Given the description of an element on the screen output the (x, y) to click on. 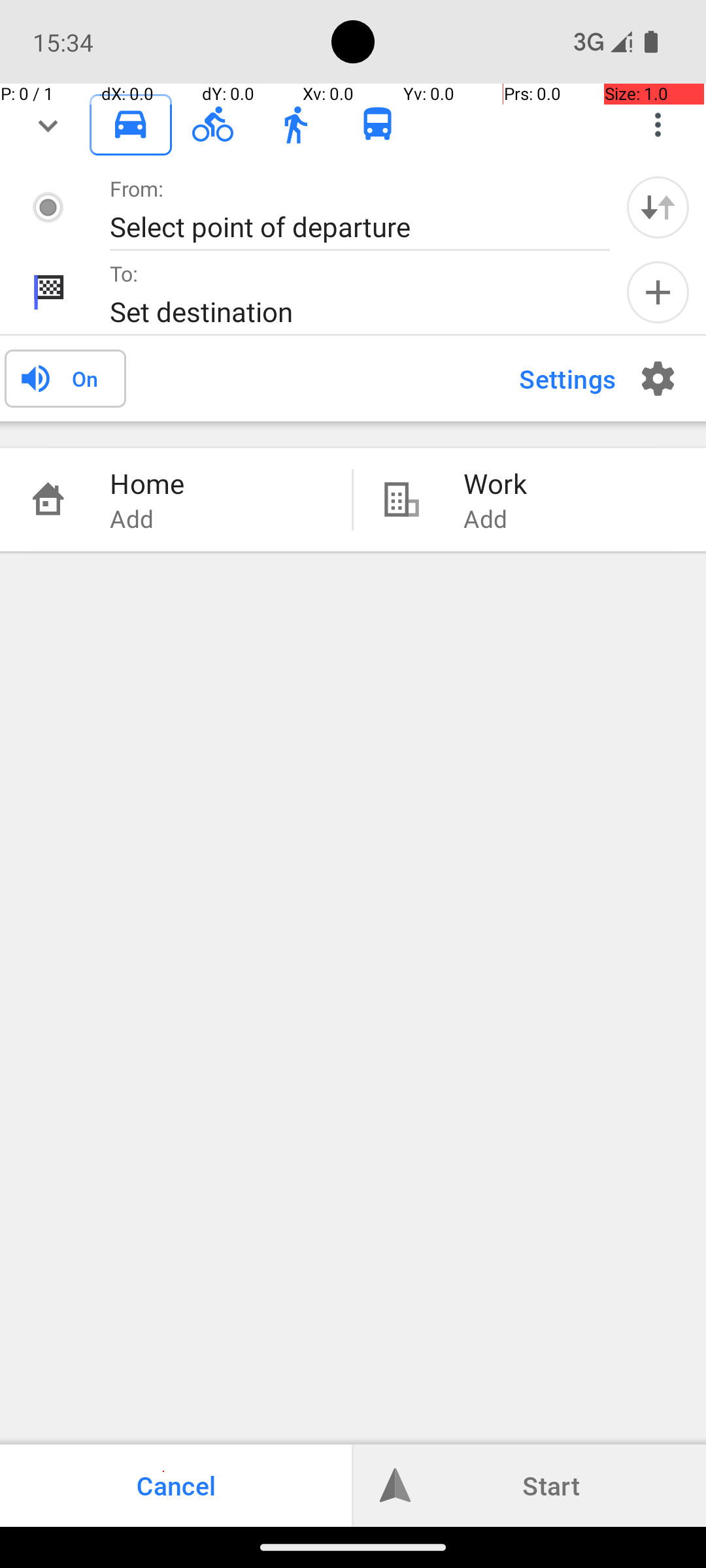
fold/unfold Element type: android.widget.ImageView (48, 124)
Choose app modes Element type: android.widget.ImageView (657, 124)
Driving Element type: android.widget.FrameLayout (130, 124)
Cycling Element type: android.widget.FrameLayout (212, 124)
Walking Element type: android.widget.FrameLayout (295, 124)
Public transport Element type: android.widget.FrameLayout (377, 124)
From: Element type: android.widget.TextView (136, 188)
Select point of departure Element type: android.widget.TextView (345, 226)
Swap Element type: android.widget.FrameLayout (657, 207)
To: Element type: android.widget.TextView (123, 273)
Set destination Element type: android.widget.TextView (345, 310)
Driving checked Element type: android.widget.ImageView (130, 124)
Cycling unchecked Element type: android.widget.ImageView (212, 124)
Walking unchecked Element type: android.widget.ImageView (294, 124)
Public transport unchecked Element type: android.widget.ImageView (377, 124)
On Element type: android.widget.TextView (84, 378)
